Given the description of an element on the screen output the (x, y) to click on. 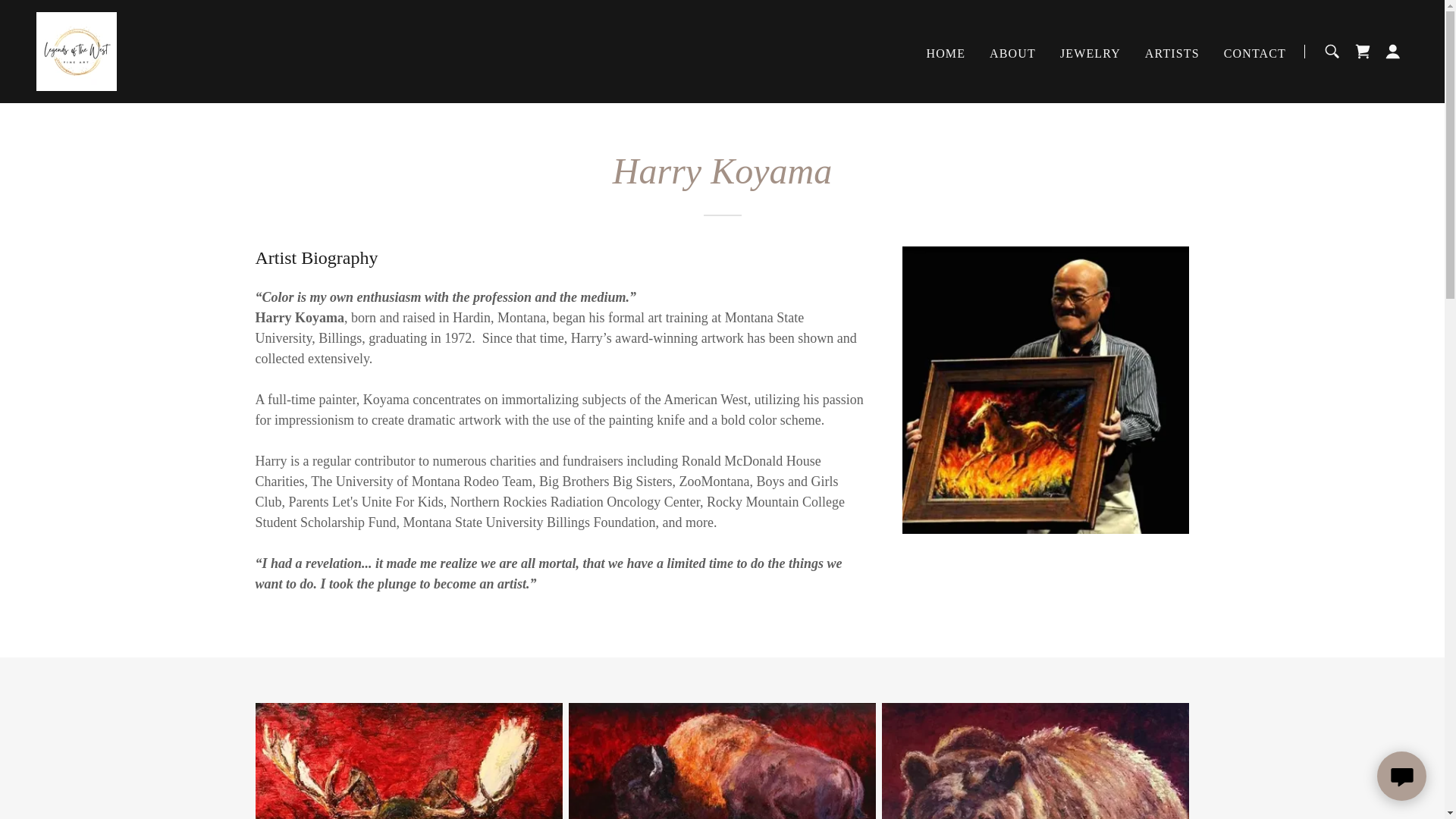
ABOUT (1013, 52)
CONTACT (1255, 52)
HOME (945, 52)
JEWELRY (1090, 52)
ARTISTS (1172, 52)
